Given the description of an element on the screen output the (x, y) to click on. 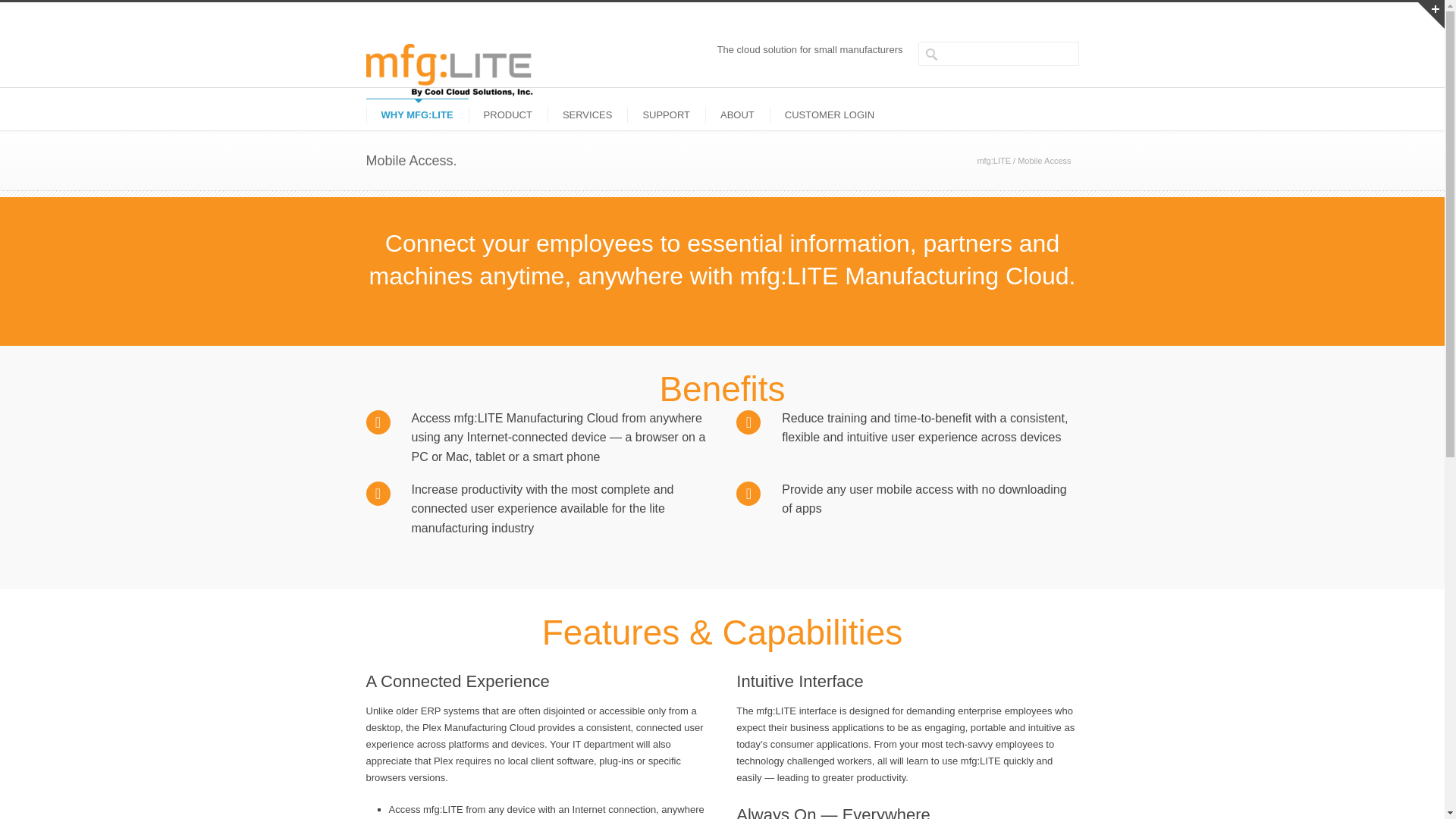
SERVICES (587, 114)
mfg:LITE (993, 160)
CUSTOMER LOGIN (829, 114)
ABOUT (737, 114)
Search (68, 11)
WHY MFG:LITE (416, 114)
PRODUCT (507, 114)
SUPPORT (665, 114)
